Given the description of an element on the screen output the (x, y) to click on. 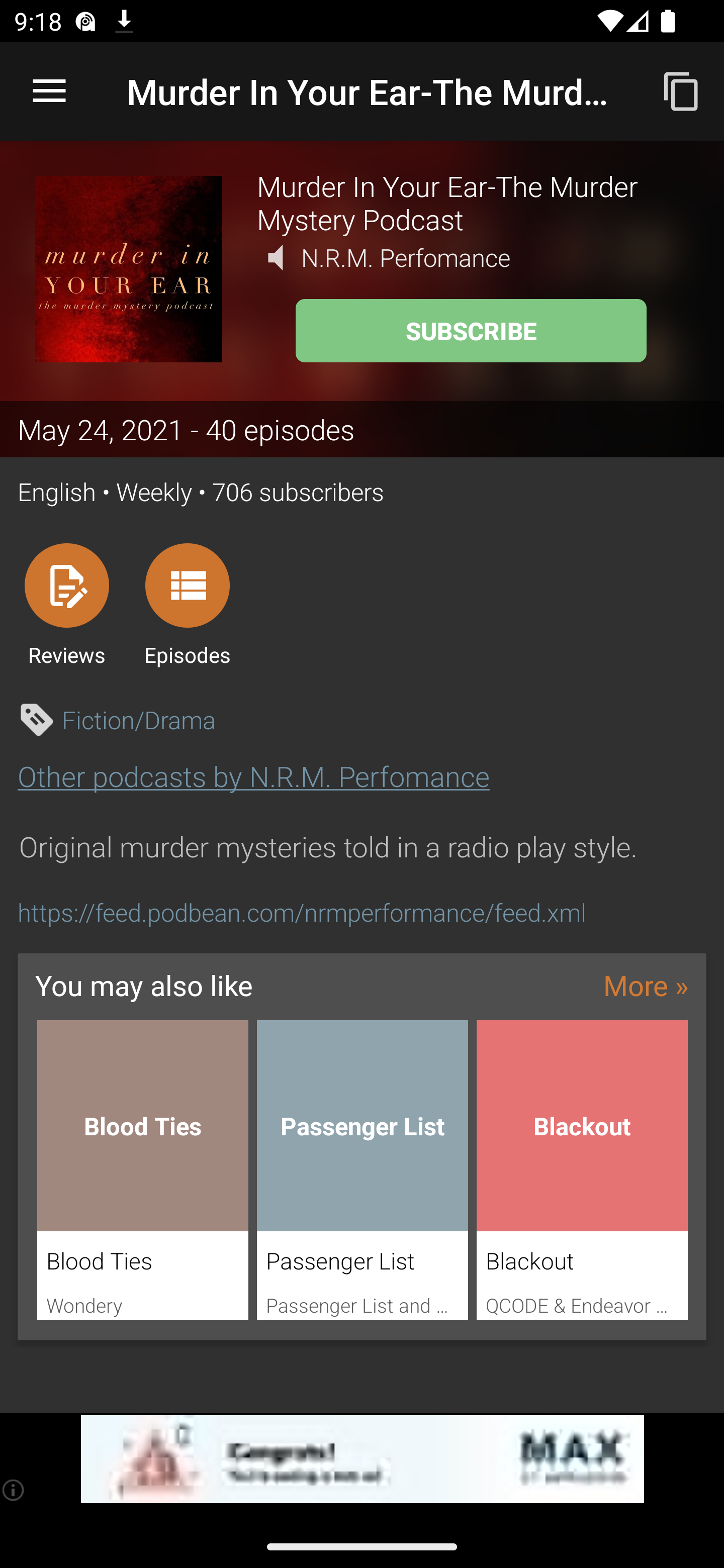
Open navigation sidebar (49, 91)
Copy feed url to clipboard (681, 90)
Murder In Your Ear-The Murder Mystery Podcast (472, 202)
SUBSCRIBE (470, 330)
Reviews (66, 604)
Episodes (187, 604)
Other podcasts by N.R.M. Perfomance (253, 775)
More » (645, 984)
Blood Ties Blood Ties Wondery (142, 1170)
Blackout Blackout QCODE & Endeavor Content (581, 1170)
app-monetization (362, 1459)
(i) (14, 1489)
